Given the description of an element on the screen output the (x, y) to click on. 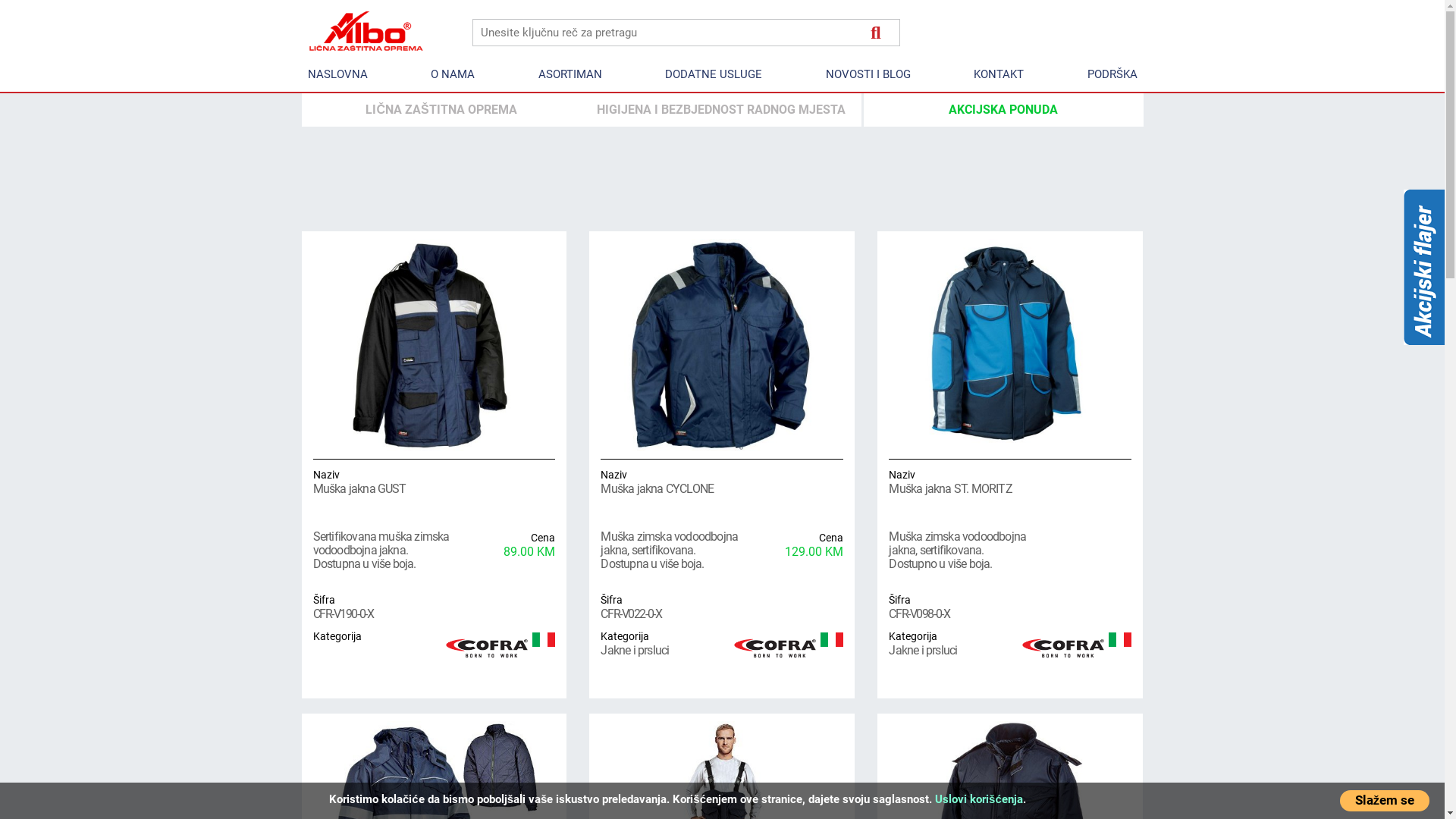
KONTAKT Element type: text (998, 74)
O NAMA Element type: text (452, 74)
DODATNE USLUGE Element type: text (713, 74)
ASORTIMAN Element type: text (570, 74)
NOVOSTI I BLOG Element type: text (867, 74)
NASLOVNA Element type: text (337, 74)
